Given the description of an element on the screen output the (x, y) to click on. 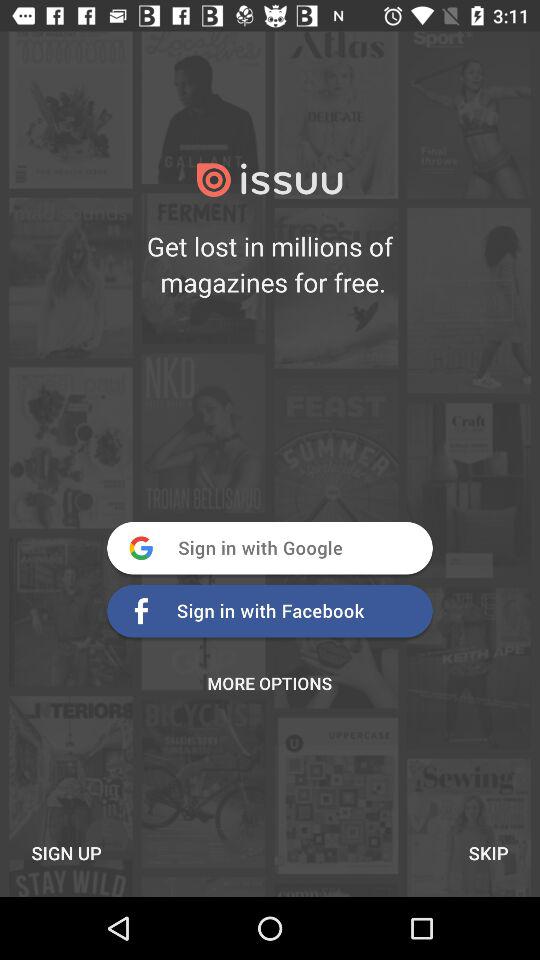
press sign up item (66, 852)
